Given the description of an element on the screen output the (x, y) to click on. 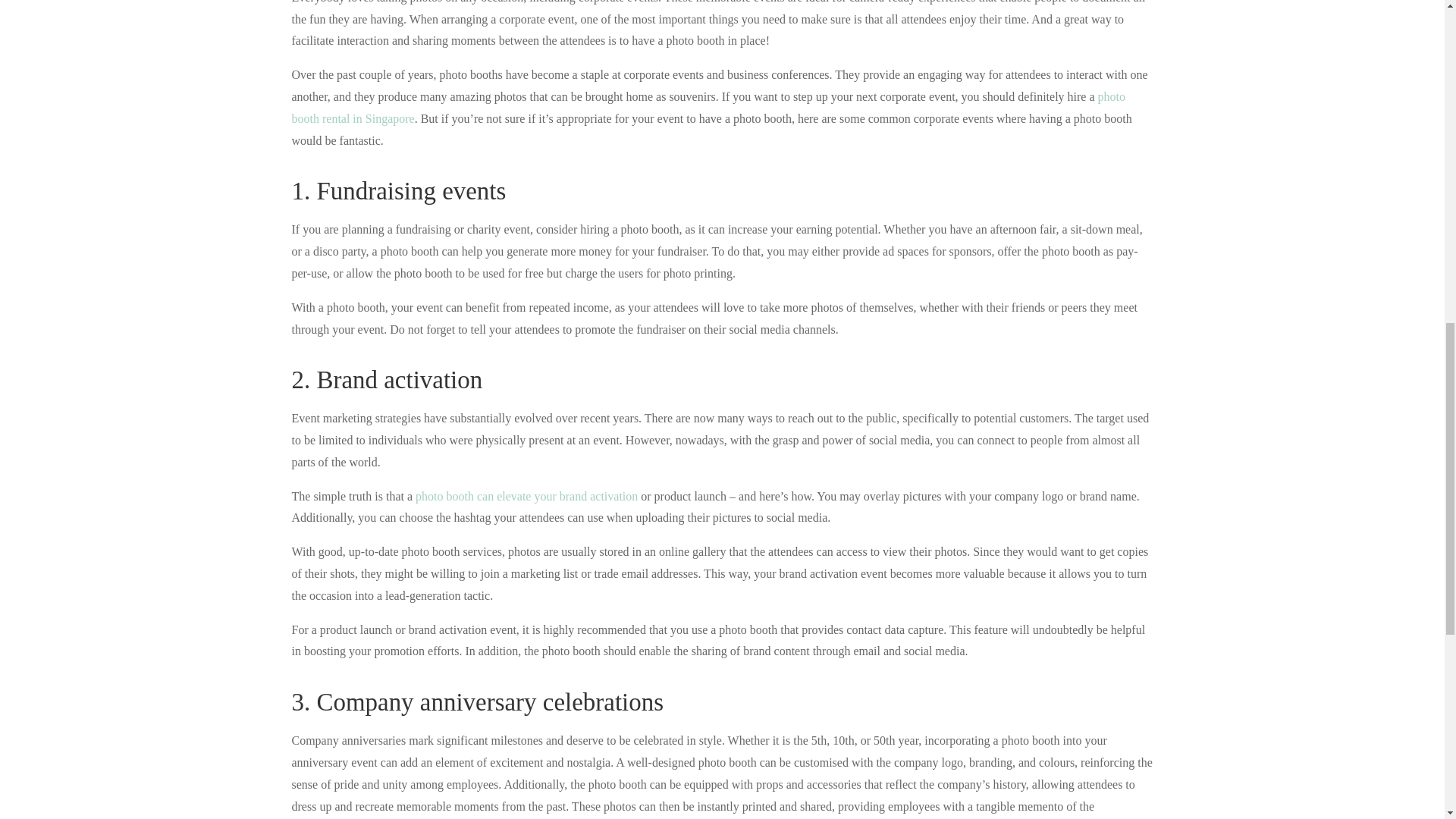
Photo Booth Rental, Photo Booth Rental Singapore (708, 107)
photo booth rental in Singapore (708, 107)
Photo Booths And How They Can Elevate Your Brand Activation (525, 495)
